Given the description of an element on the screen output the (x, y) to click on. 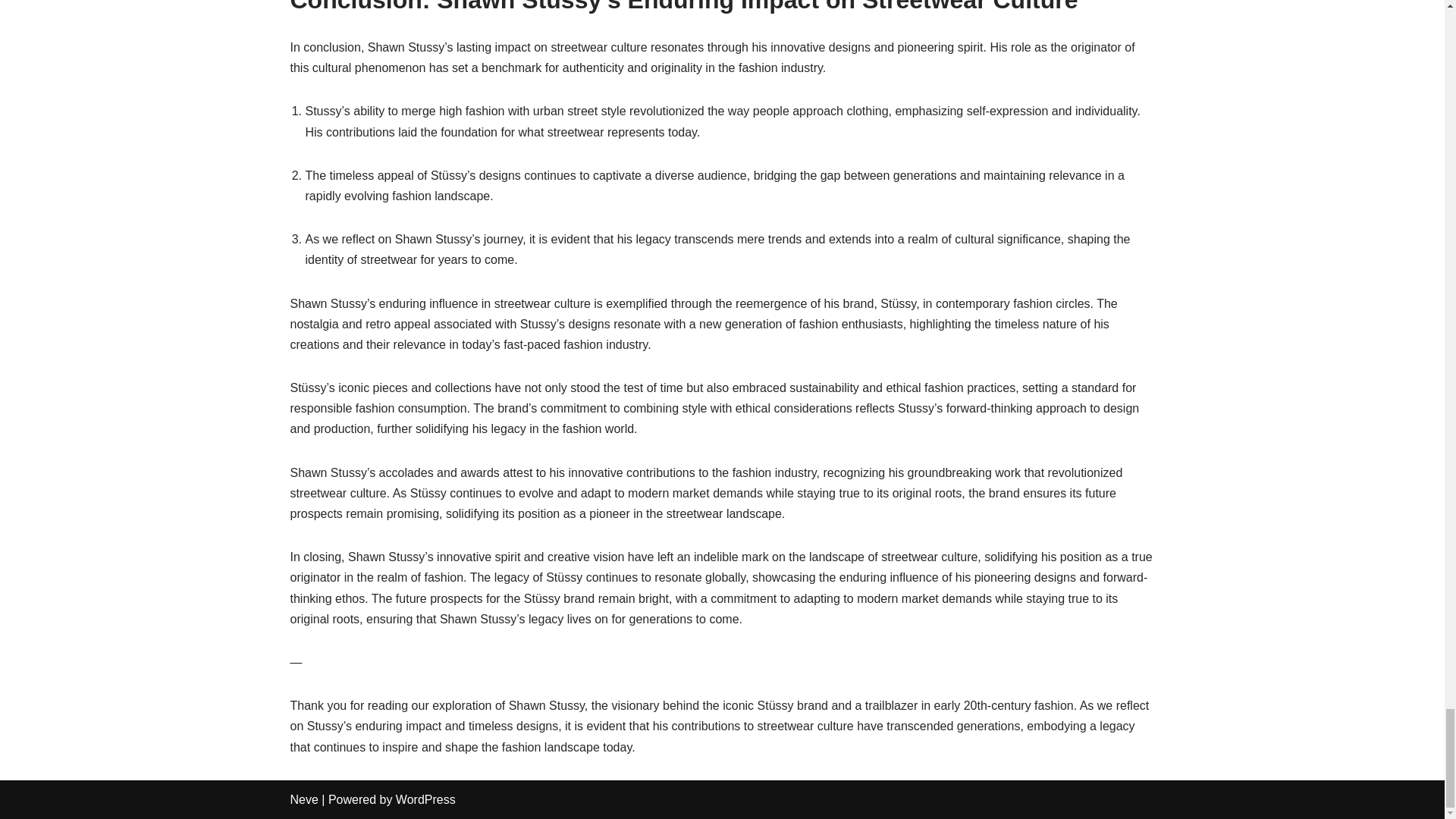
WordPress (425, 799)
Neve (303, 799)
